Given the description of an element on the screen output the (x, y) to click on. 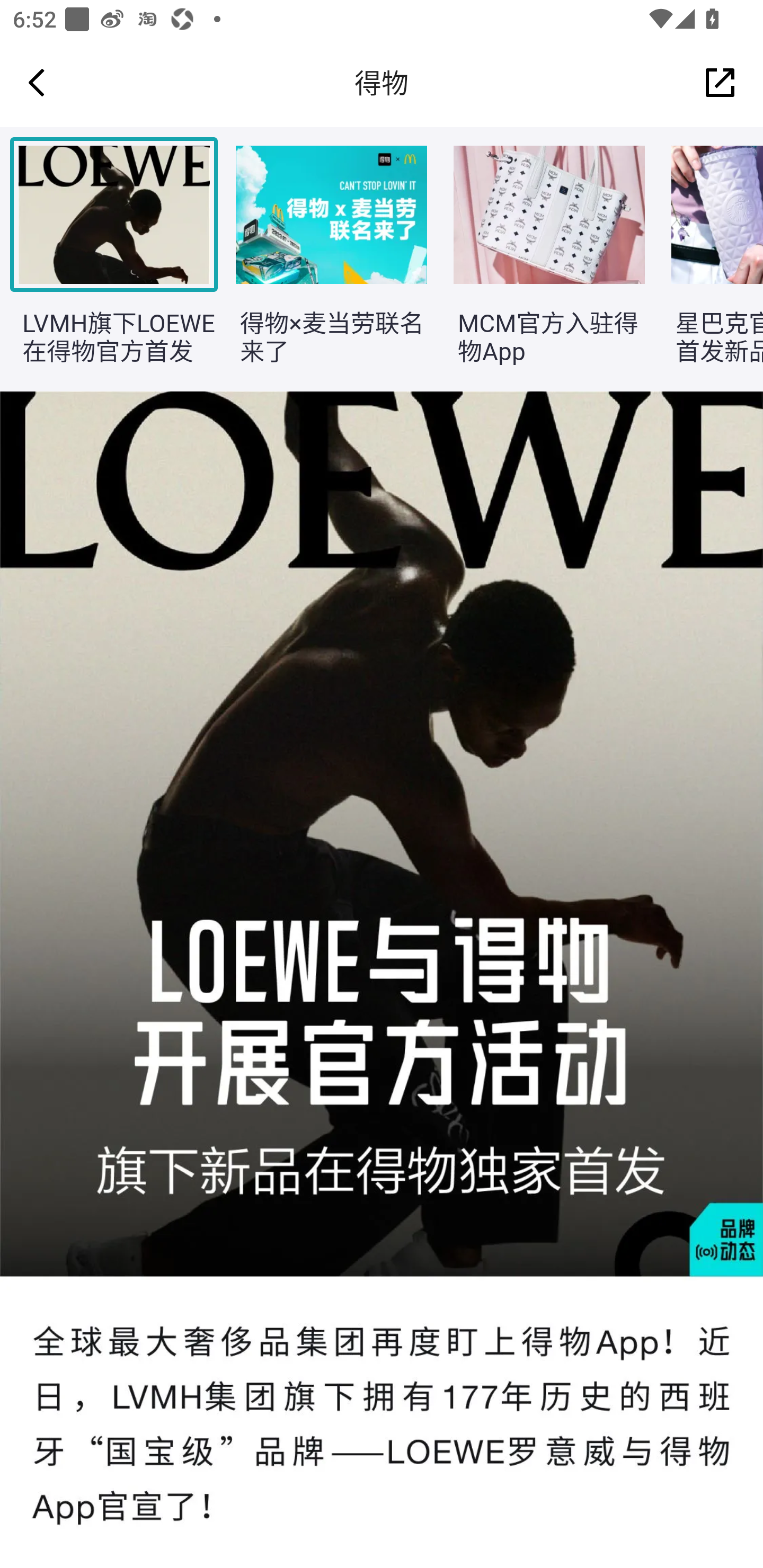
Navigate up (36, 82)
resize,w_306,h_228 LVMH旗下LOEWE在得物官方首发 (104, 259)
resize,w_306,h_228 得物×麦当劳联名来了 (320, 259)
resize,w_306,h_228 MCM官方入驻得物App (538, 259)
